Given the description of an element on the screen output the (x, y) to click on. 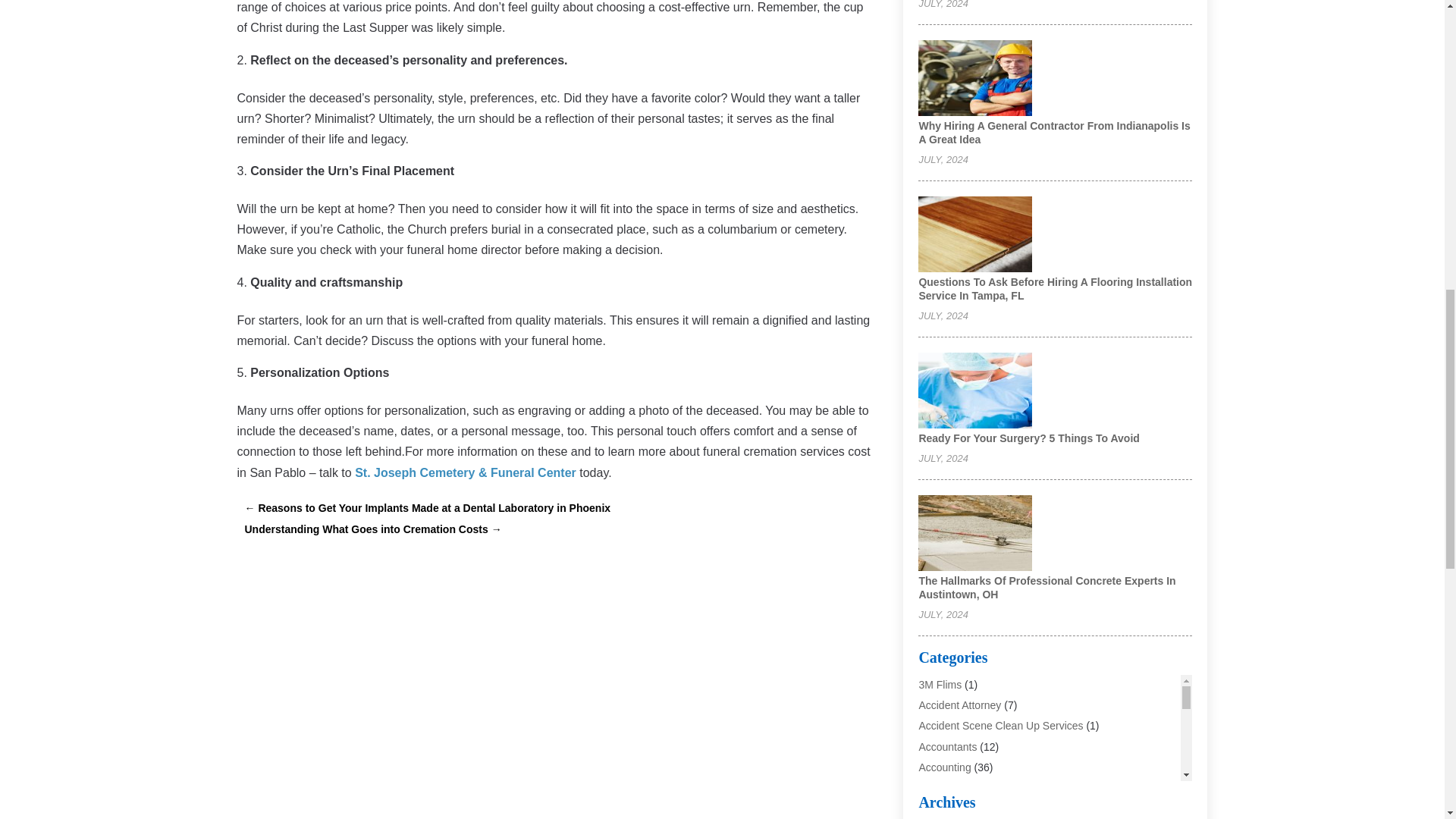
Accident Scene Clean Up Services (1000, 725)
Accident Attorney (959, 705)
3M Flims (939, 684)
Accounting (944, 767)
Accounting Services (966, 787)
Ready For Your Surgery? 5 Things To Avoid (1028, 438)
Accountants (947, 746)
